Given the description of an element on the screen output the (x, y) to click on. 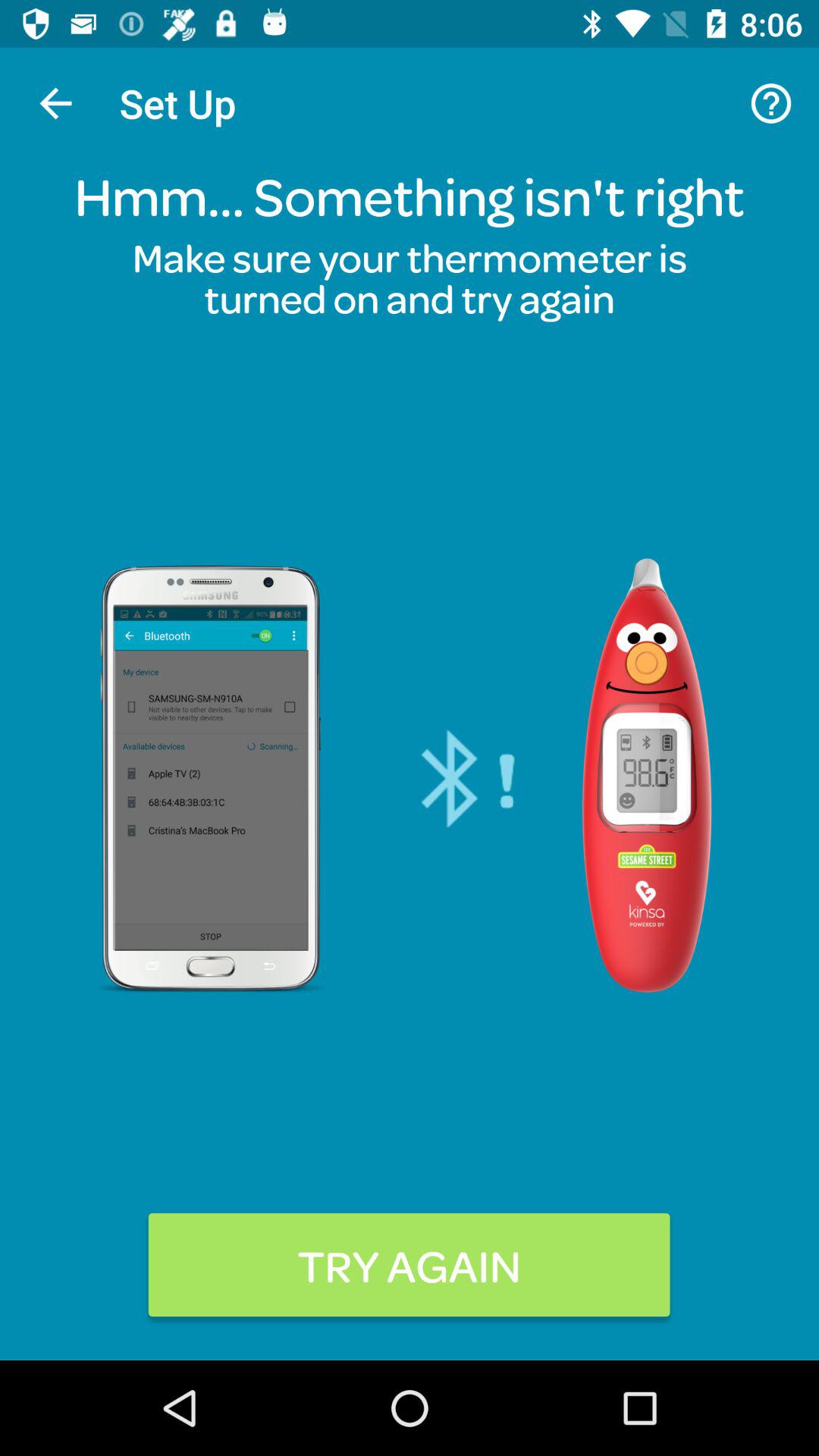
tap item at the top right corner (771, 103)
